Given the description of an element on the screen output the (x, y) to click on. 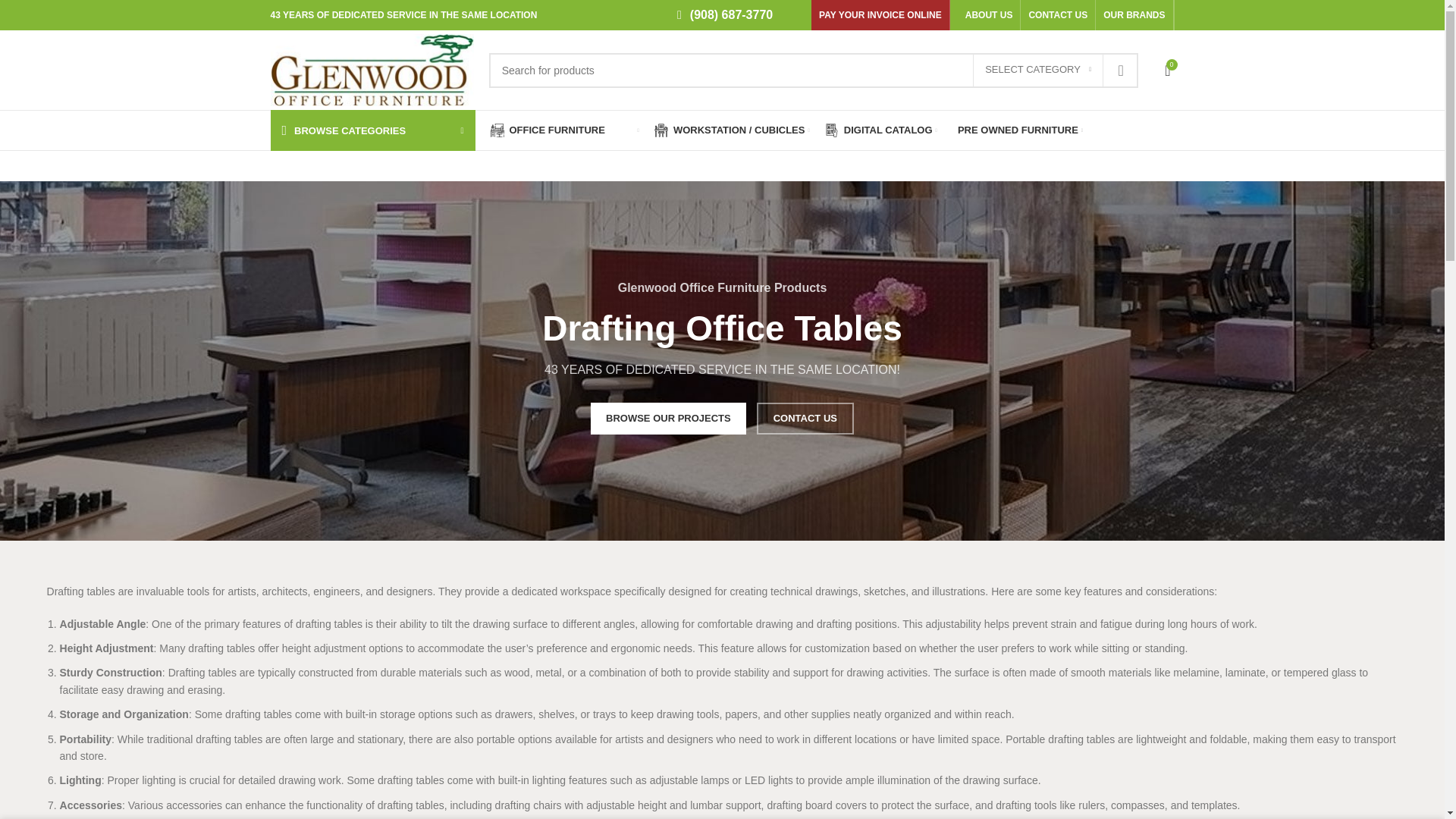
SELECT CATEGORY (1037, 70)
OUR BRANDS (1133, 15)
SELECT CATEGORY (1037, 70)
ABOUT US (989, 15)
PAY YOUR INVOICE ONLINE (880, 15)
Search for products (813, 70)
CONTACT US (1057, 15)
